Given the description of an element on the screen output the (x, y) to click on. 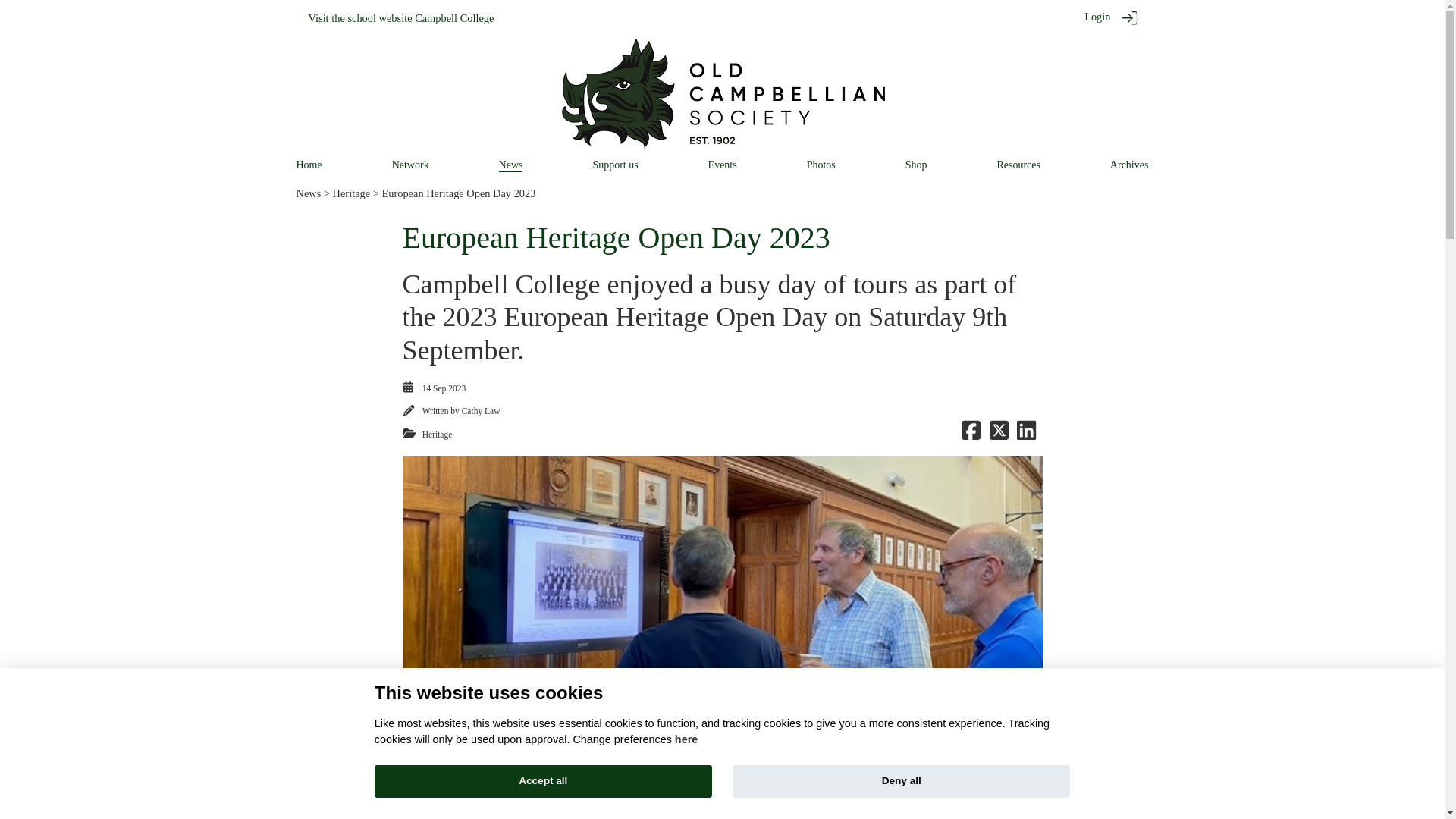
Shop (916, 164)
Login (1096, 16)
Events (721, 164)
Share on Facebook (969, 434)
Home (308, 164)
Share on LinkedIn (1025, 434)
Support us (614, 164)
Archives (1128, 164)
Campbell College (453, 18)
Resources (1018, 164)
Heritage (437, 433)
Share on Twitter (997, 434)
Network (410, 164)
Photos (820, 164)
News (307, 193)
